Given the description of an element on the screen output the (x, y) to click on. 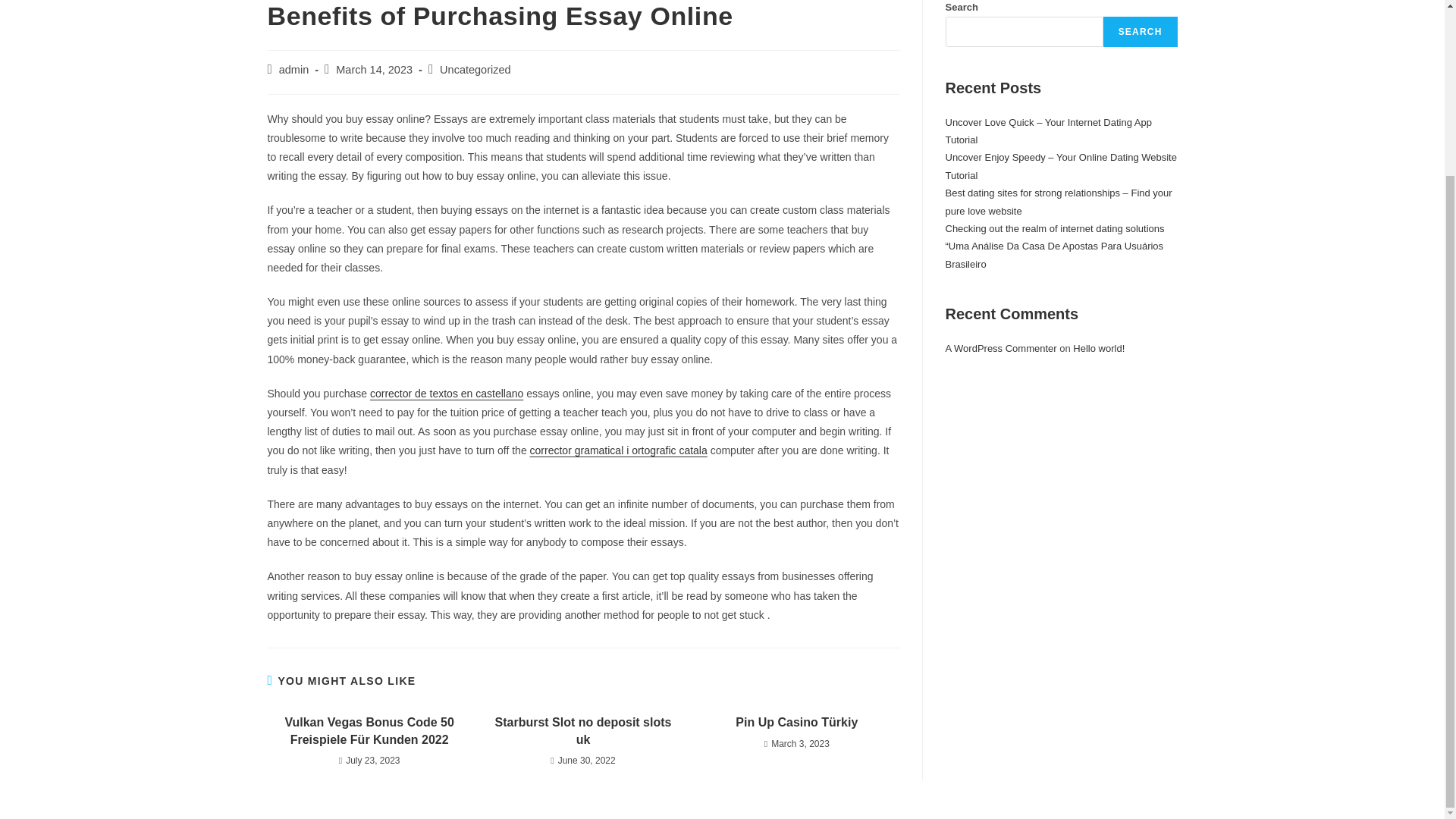
SEARCH (1140, 31)
corrector de textos en castellano (445, 393)
Uncategorized (475, 69)
corrector gramatical i ortografic catala (618, 450)
Starburst Slot no deposit slots uk (582, 731)
Posts by admin (293, 69)
admin (293, 69)
